Given the description of an element on the screen output the (x, y) to click on. 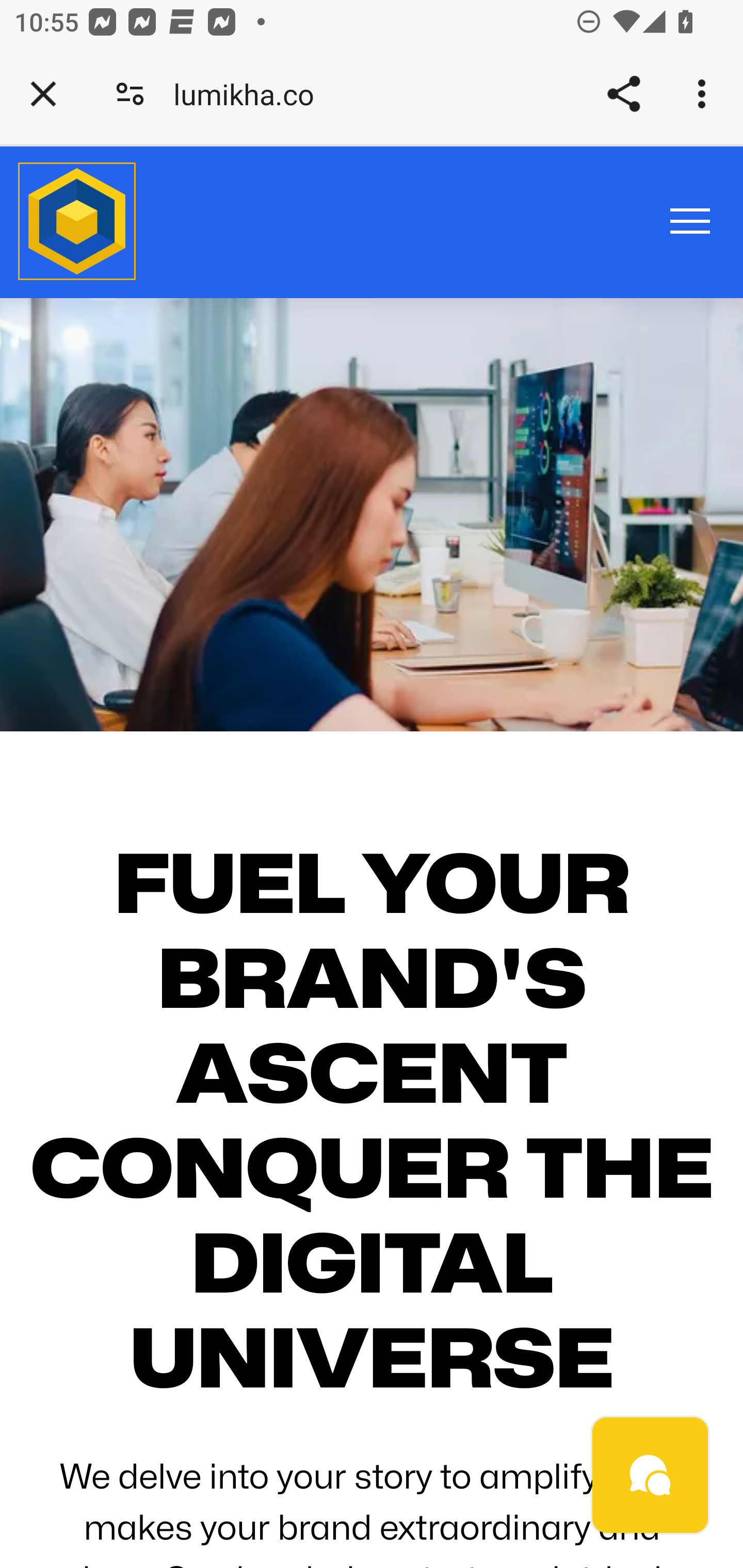
Close tab (43, 93)
Share (623, 93)
Customize and control Google Chrome (705, 93)
Connection is secure (129, 93)
lumikha.co (250, 93)
LUMI-ID-Avatar_Transparent-640w (77, 222)
menu opener (690, 220)
bubble-icon (650, 1476)
